Given the description of an element on the screen output the (x, y) to click on. 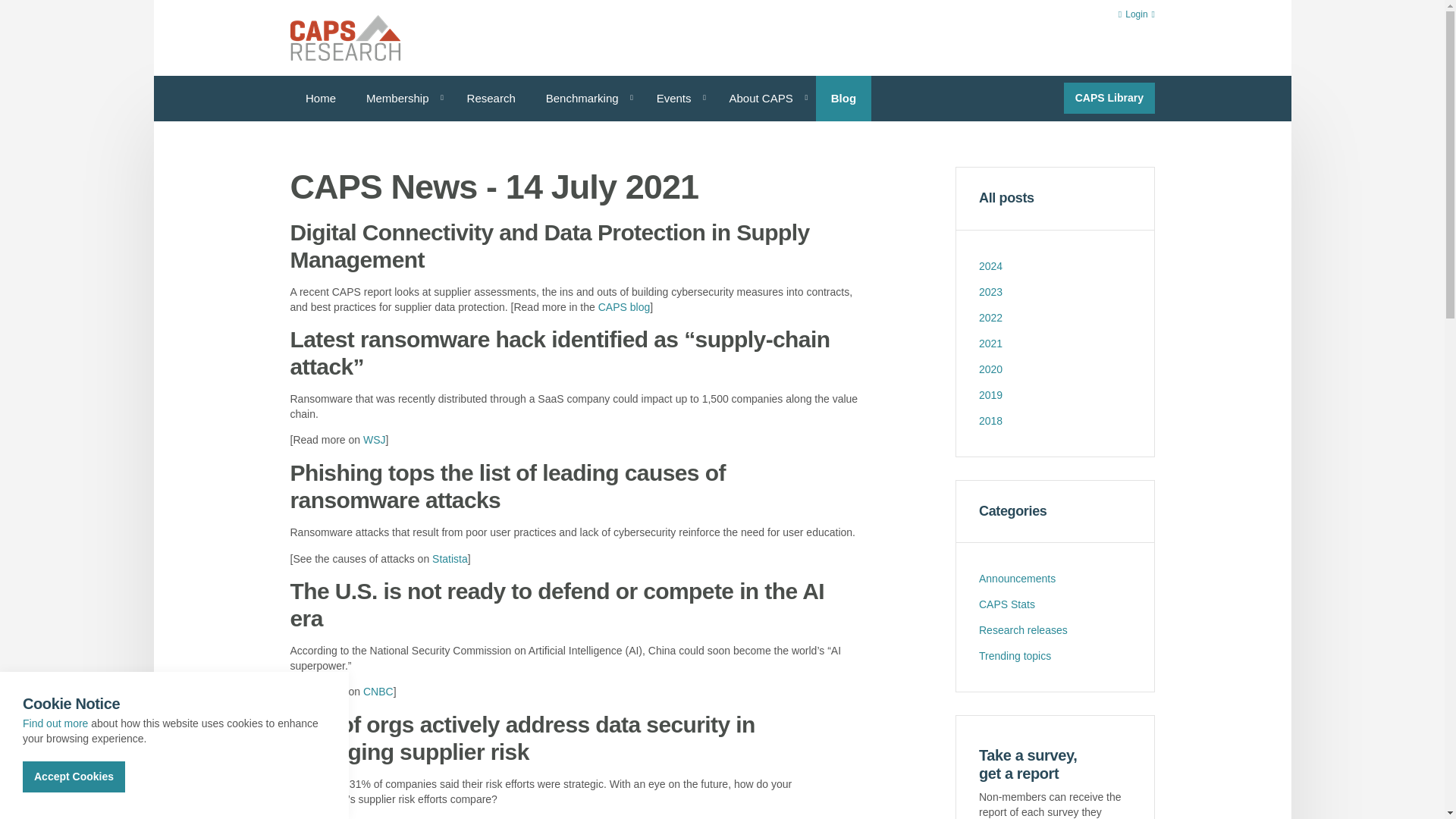
Skip to the content (721, 12)
CAPS Library (1108, 97)
Benchmarking (584, 98)
CAPS Research (343, 37)
Membership (400, 98)
CAPS Library (1108, 97)
The U.S. is not ready to defend or compete in the AI era (377, 691)
Events (676, 98)
Research (490, 98)
Blog (842, 98)
CNBC (377, 691)
Login (1136, 15)
About CAPS (764, 98)
